Given the description of an element on the screen output the (x, y) to click on. 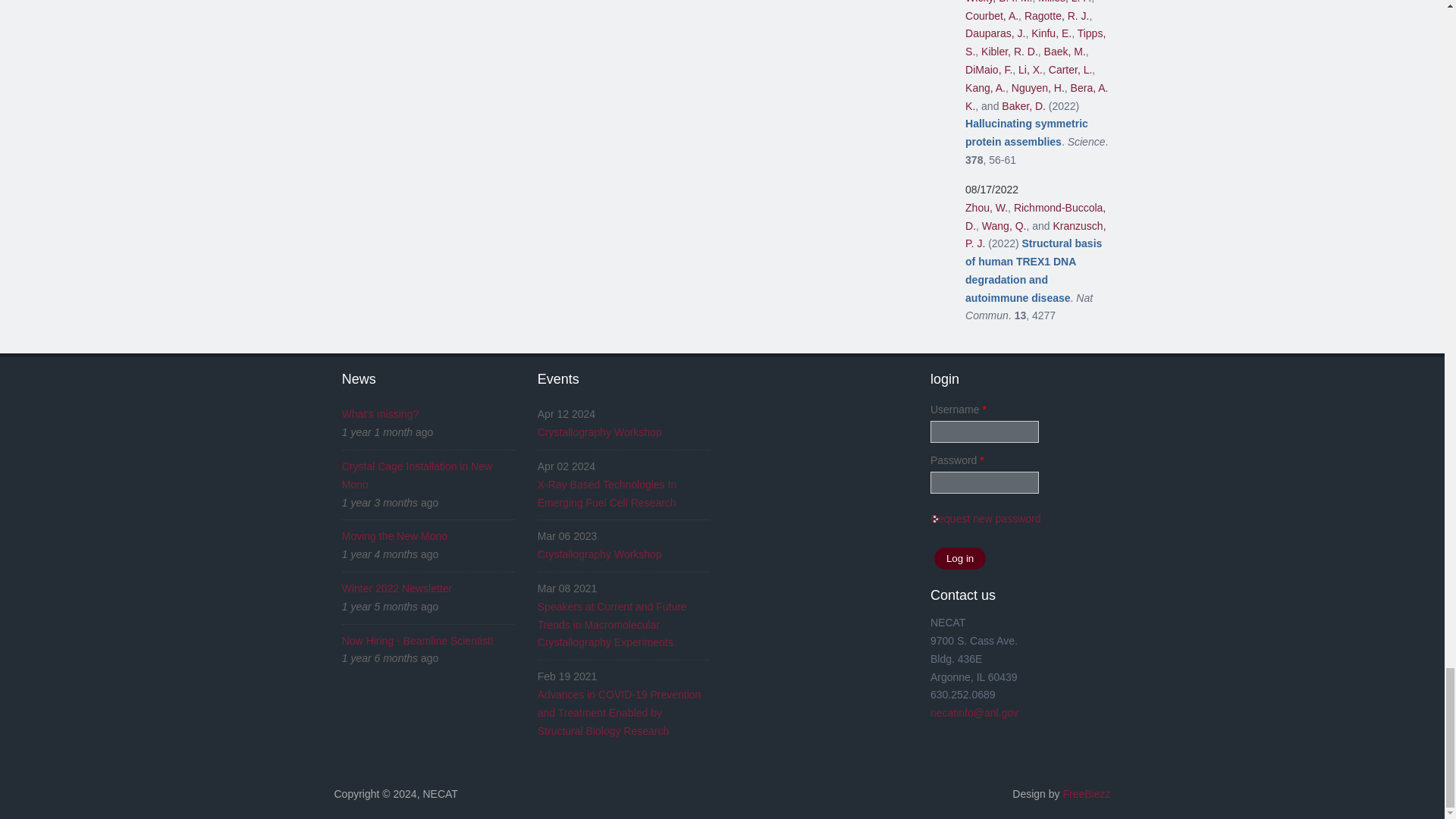
Log in (959, 558)
